Given the description of an element on the screen output the (x, y) to click on. 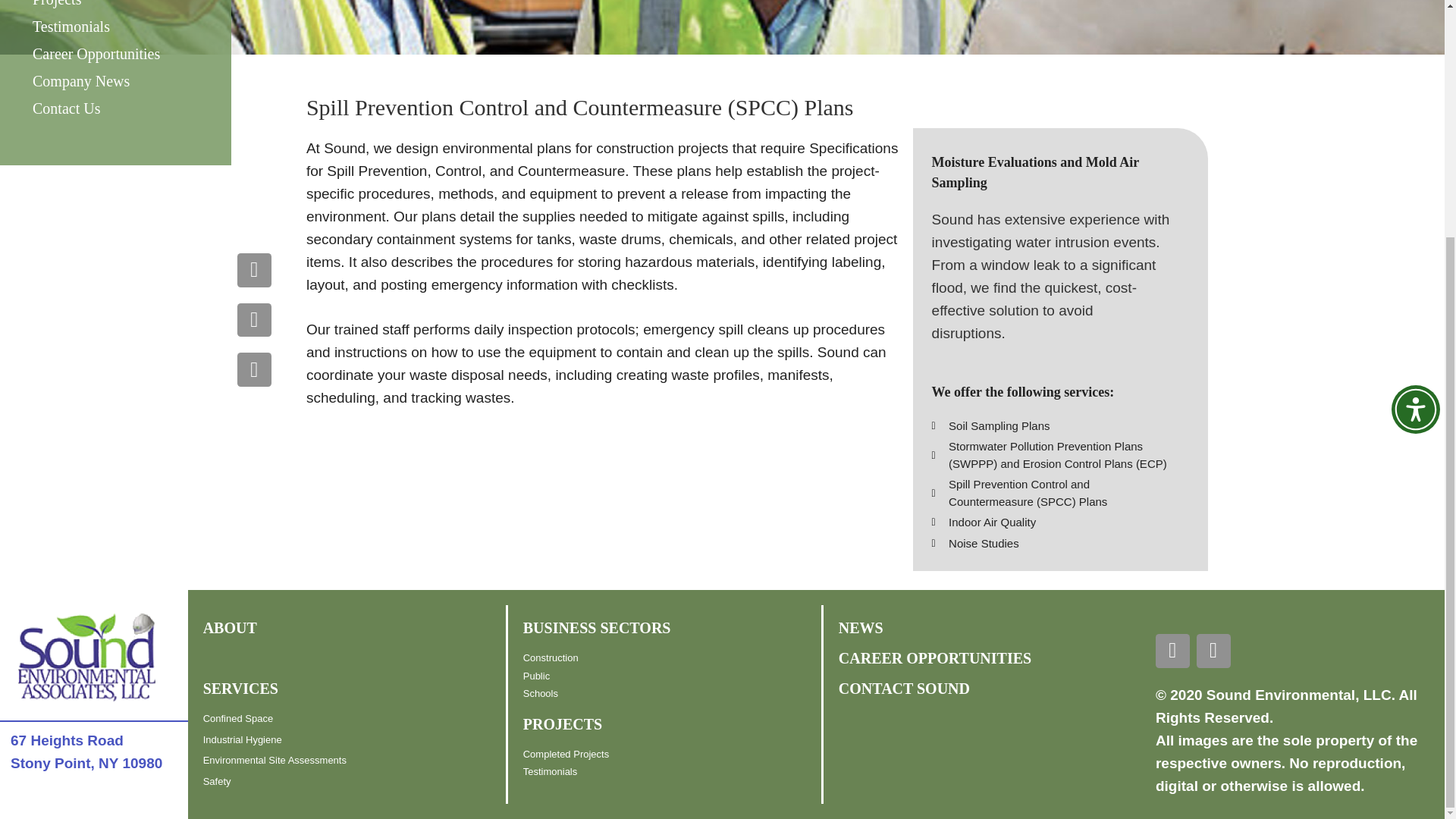
SERVICES (240, 688)
Testimonials (115, 26)
Accessibility Menu (1415, 84)
BUSINESS SECTORS (596, 627)
Safety (354, 780)
Career Opportunities (115, 53)
Indoor Air Quality (1050, 522)
Contact Us (115, 108)
Schools (671, 693)
Industrial Hygiene (354, 739)
Projects (115, 6)
Construction (671, 657)
Company News (115, 81)
Noise Studies (1050, 543)
Soil Sampling Plans (1050, 425)
